Given the description of an element on the screen output the (x, y) to click on. 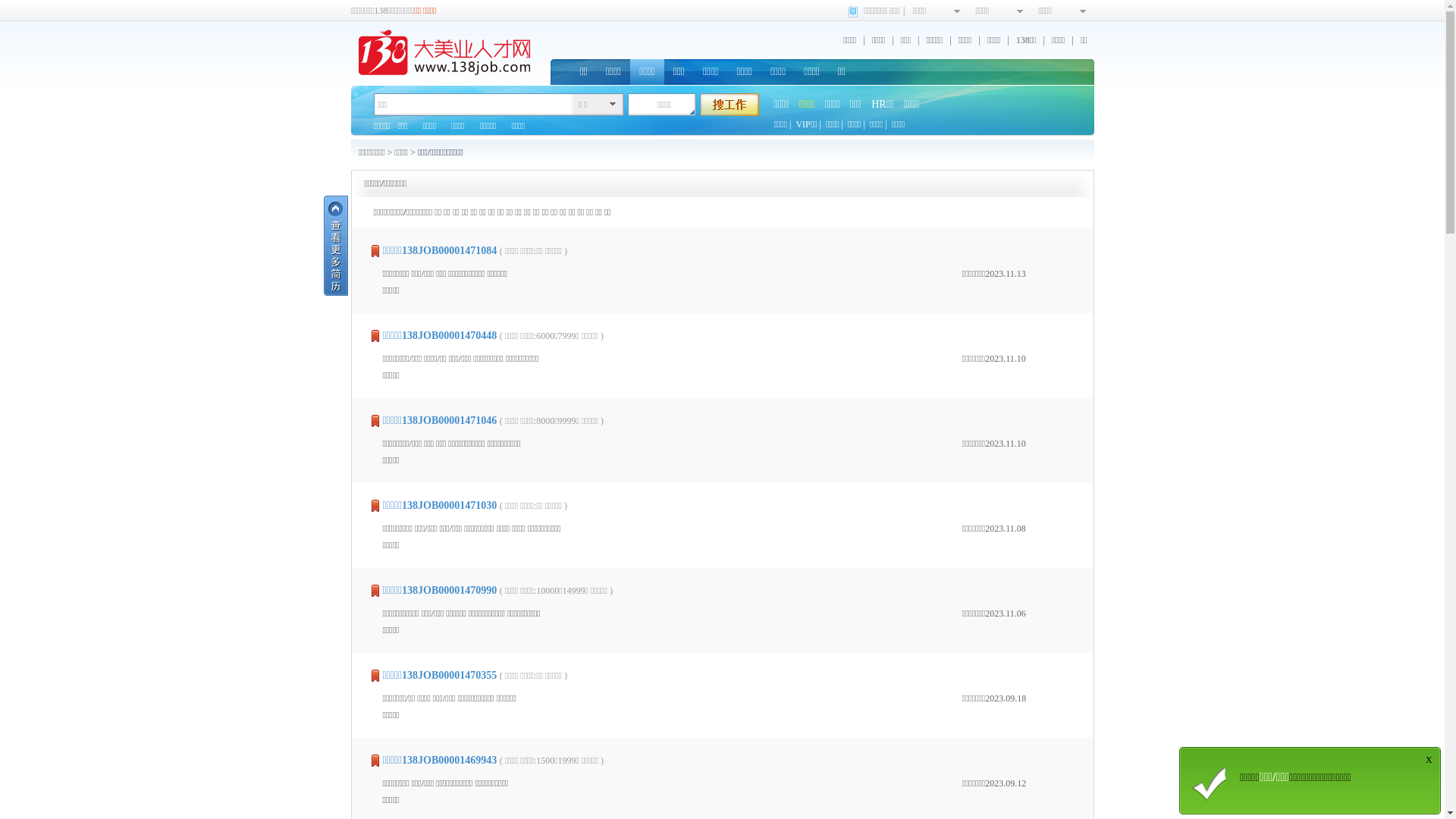
X Element type: text (1426, 759)
138JOB00001471046 Element type: text (448, 420)
138JOB00001470448 Element type: text (448, 335)
138JOB00001470355 Element type: text (448, 674)
  Element type: text (728, 104)
138JOB00001471030 Element type: text (448, 505)
138JOB00001470990 Element type: text (448, 590)
138JOB00001471084 Element type: text (448, 250)
138JOB00001469943 Element type: text (448, 759)
